Given the description of an element on the screen output the (x, y) to click on. 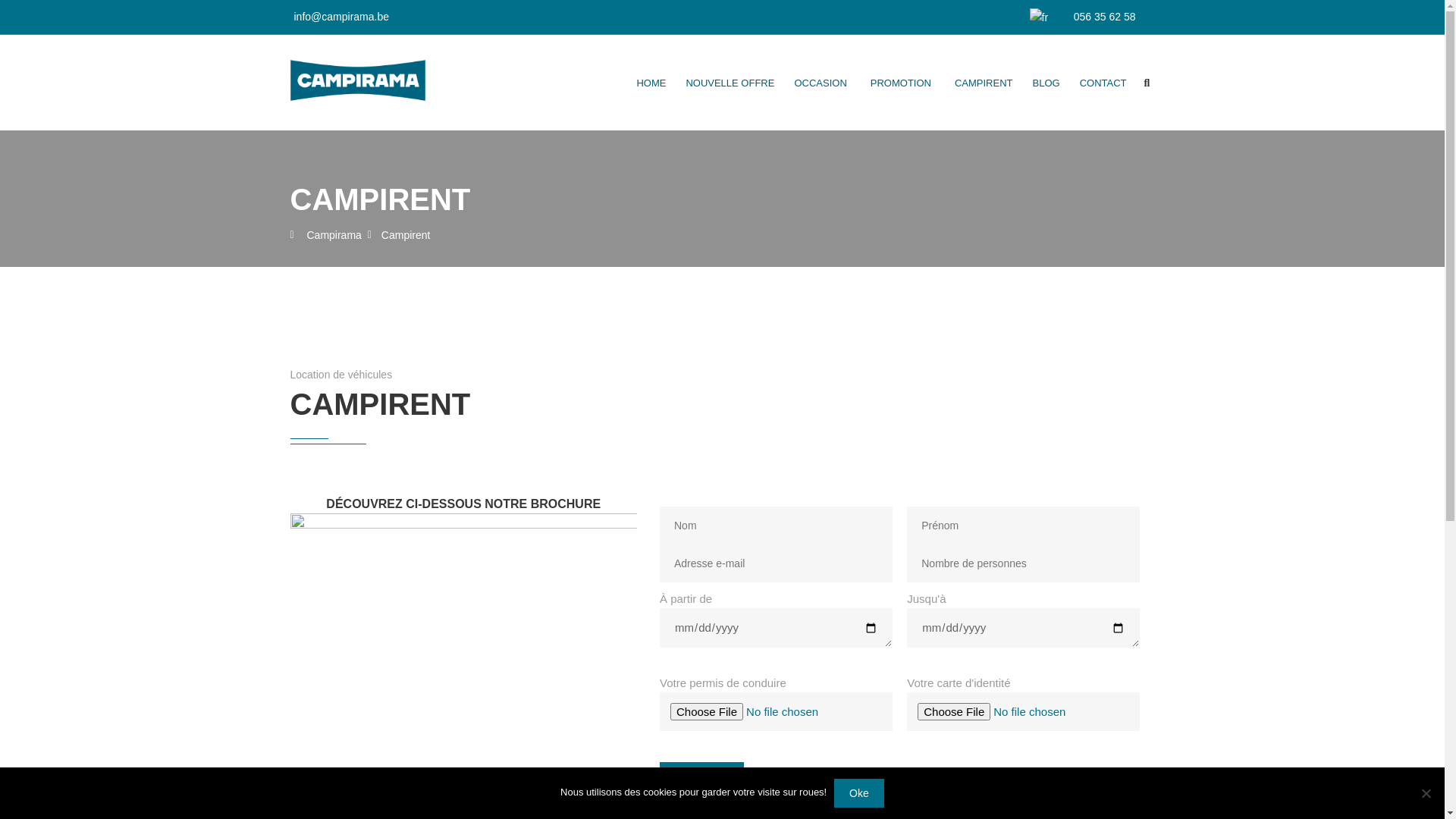
info@campirama.be Element type: text (341, 16)
056 35 62 58 Element type: text (1102, 16)
   Element type: text (1045, 16)
CAMPIRENT Element type: text (983, 82)
NOUVELLE OFFRE Element type: text (729, 82)
Oke Element type: text (859, 792)
CONTACT Element type: text (1103, 82)
BLOG Element type: text (1045, 82)
PROMOTION Element type: text (902, 82)
HOME Element type: text (650, 82)
Envoyer Element type: text (701, 777)
OCCASION Element type: text (821, 82)
Campirama Element type: text (333, 235)
